Given the description of an element on the screen output the (x, y) to click on. 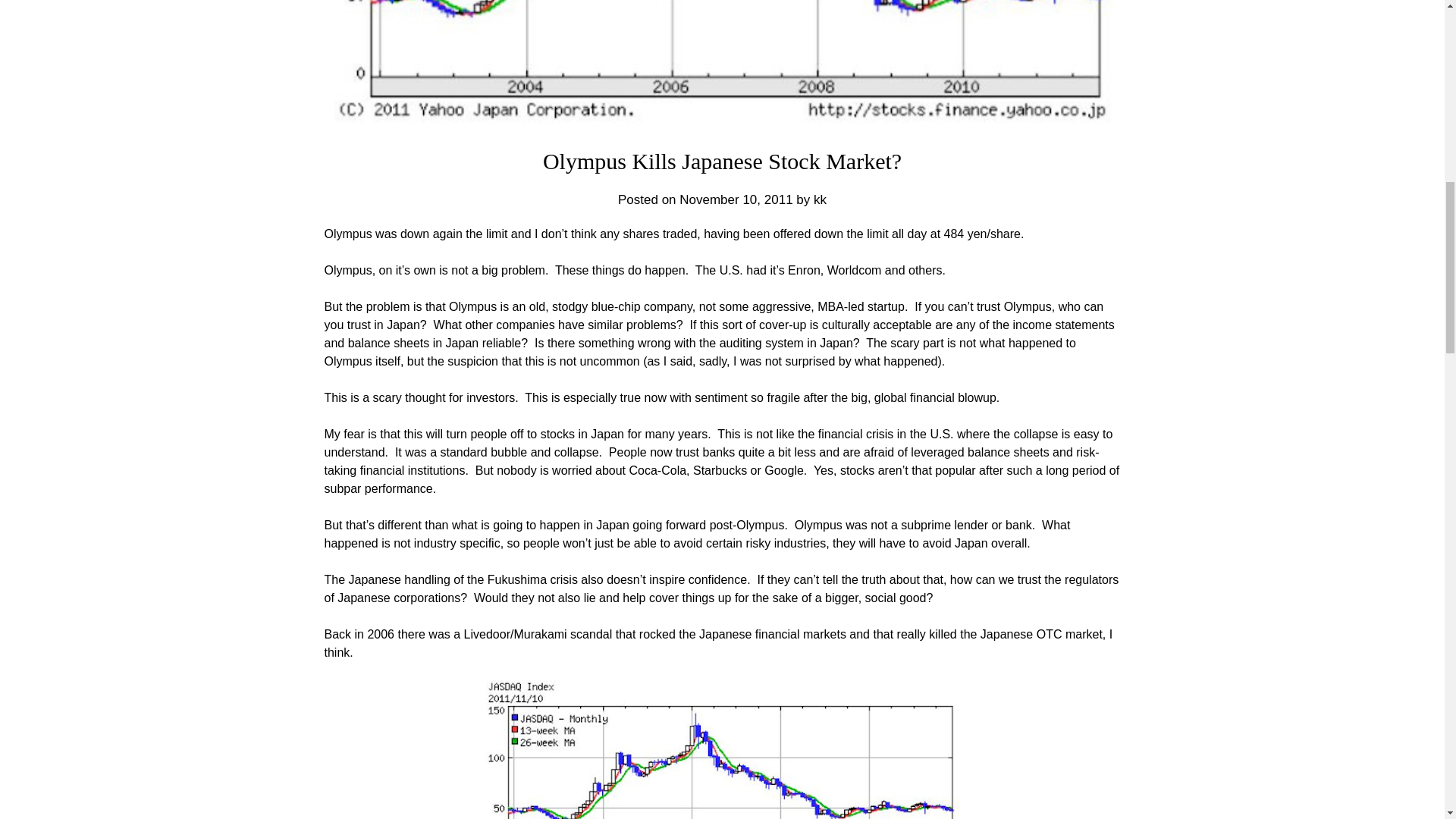
November 10, 2011 (735, 199)
kk (820, 199)
